Given the description of an element on the screen output the (x, y) to click on. 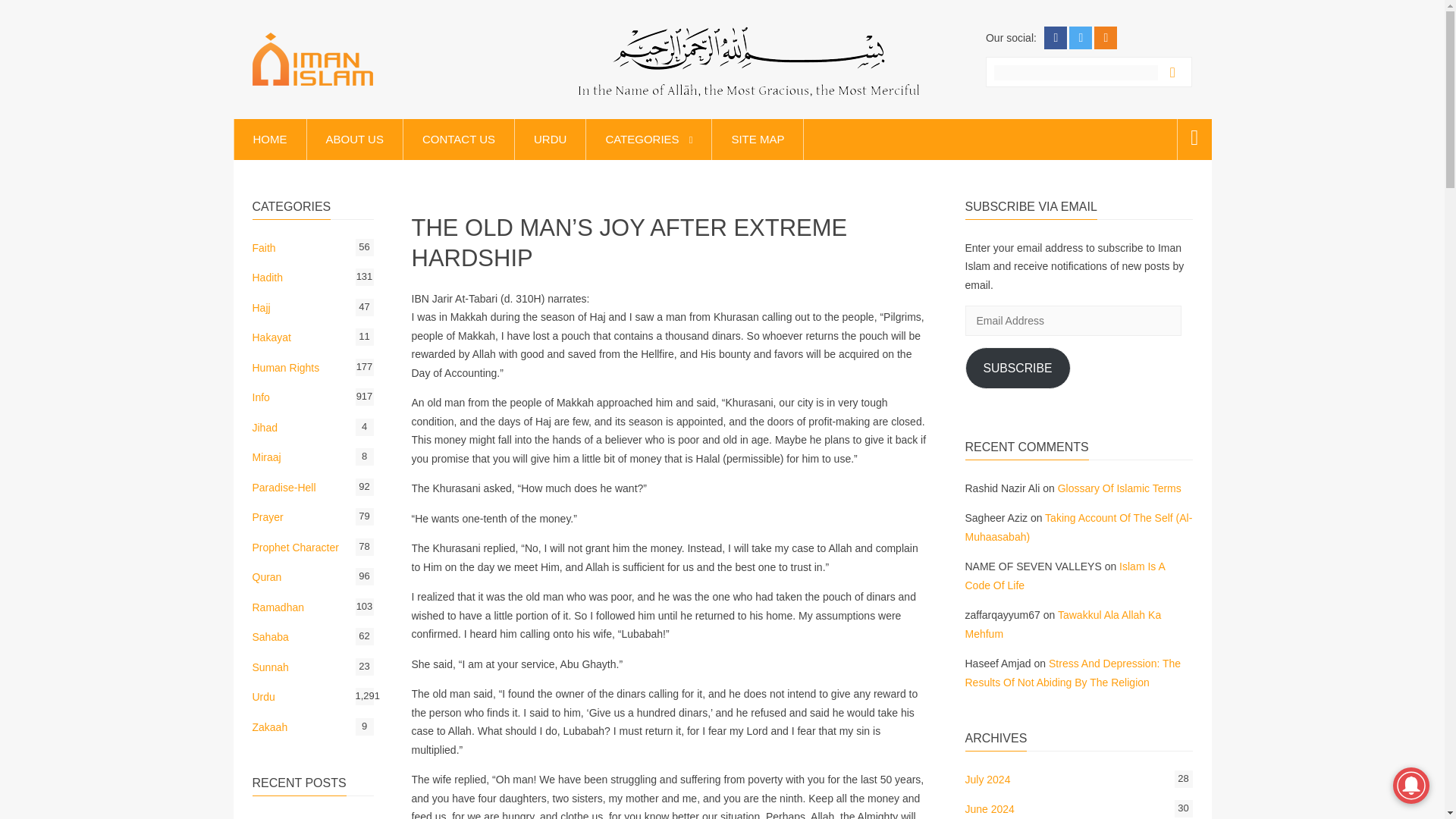
twitter (1080, 37)
Info (260, 397)
Prophet Character (294, 547)
Paradise-Hell (283, 487)
Search (1176, 72)
Miraaj (266, 457)
CONTACT US (458, 138)
Ramadhan (277, 607)
Prayer (266, 517)
ABOUT US (354, 138)
Jihad (263, 427)
URDU (549, 138)
Quran (266, 576)
Hadith (266, 277)
Hakayat (270, 337)
